Given the description of an element on the screen output the (x, y) to click on. 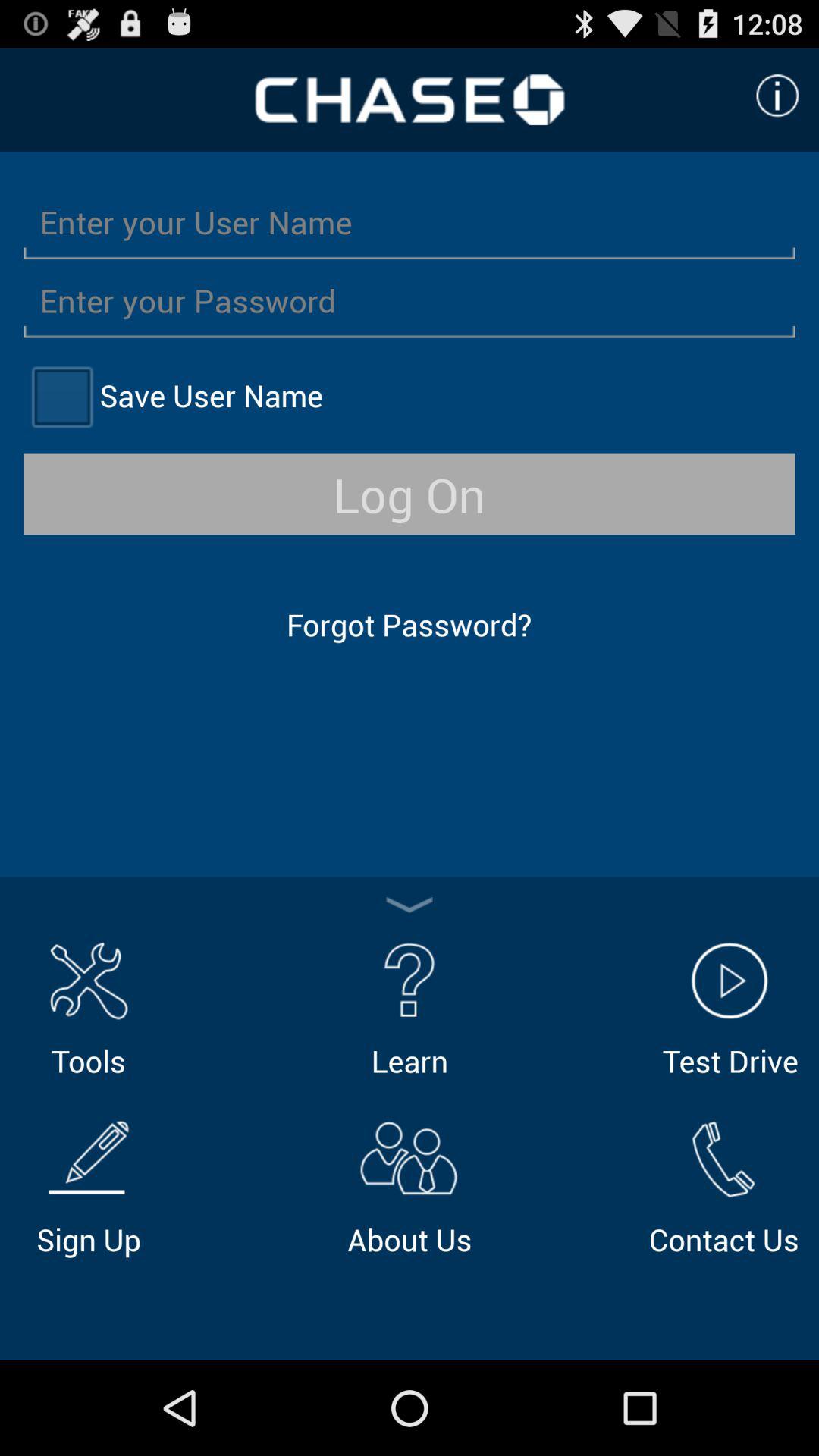
click to type in password (409, 299)
